Given the description of an element on the screen output the (x, y) to click on. 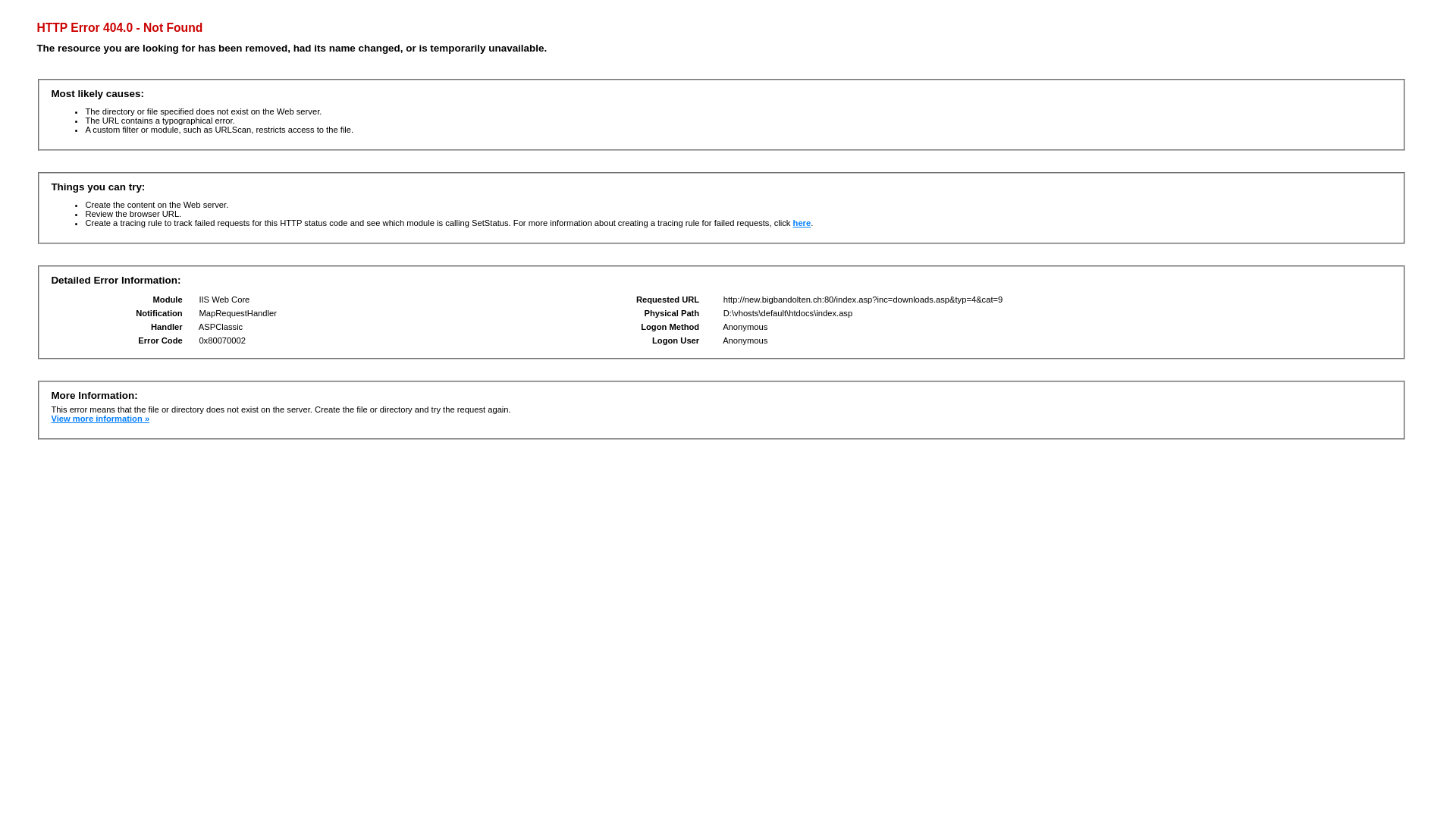
here Element type: text (802, 222)
